Given the description of an element on the screen output the (x, y) to click on. 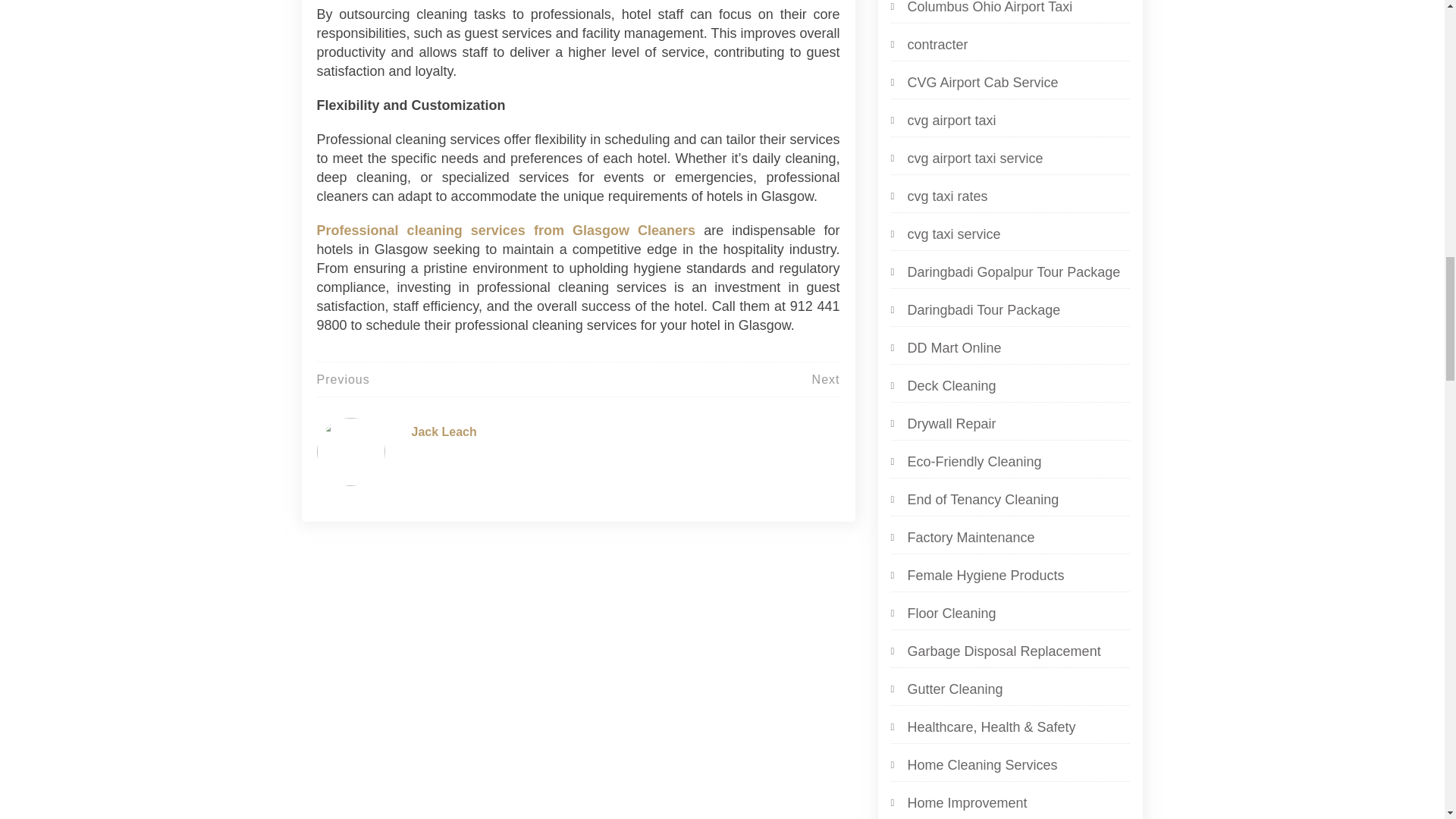
Previous (343, 379)
Jack Leach (443, 431)
Posts by Jack Leach (443, 431)
Professional cleaning services from Glasgow Cleaners (506, 230)
Next (826, 379)
